Given the description of an element on the screen output the (x, y) to click on. 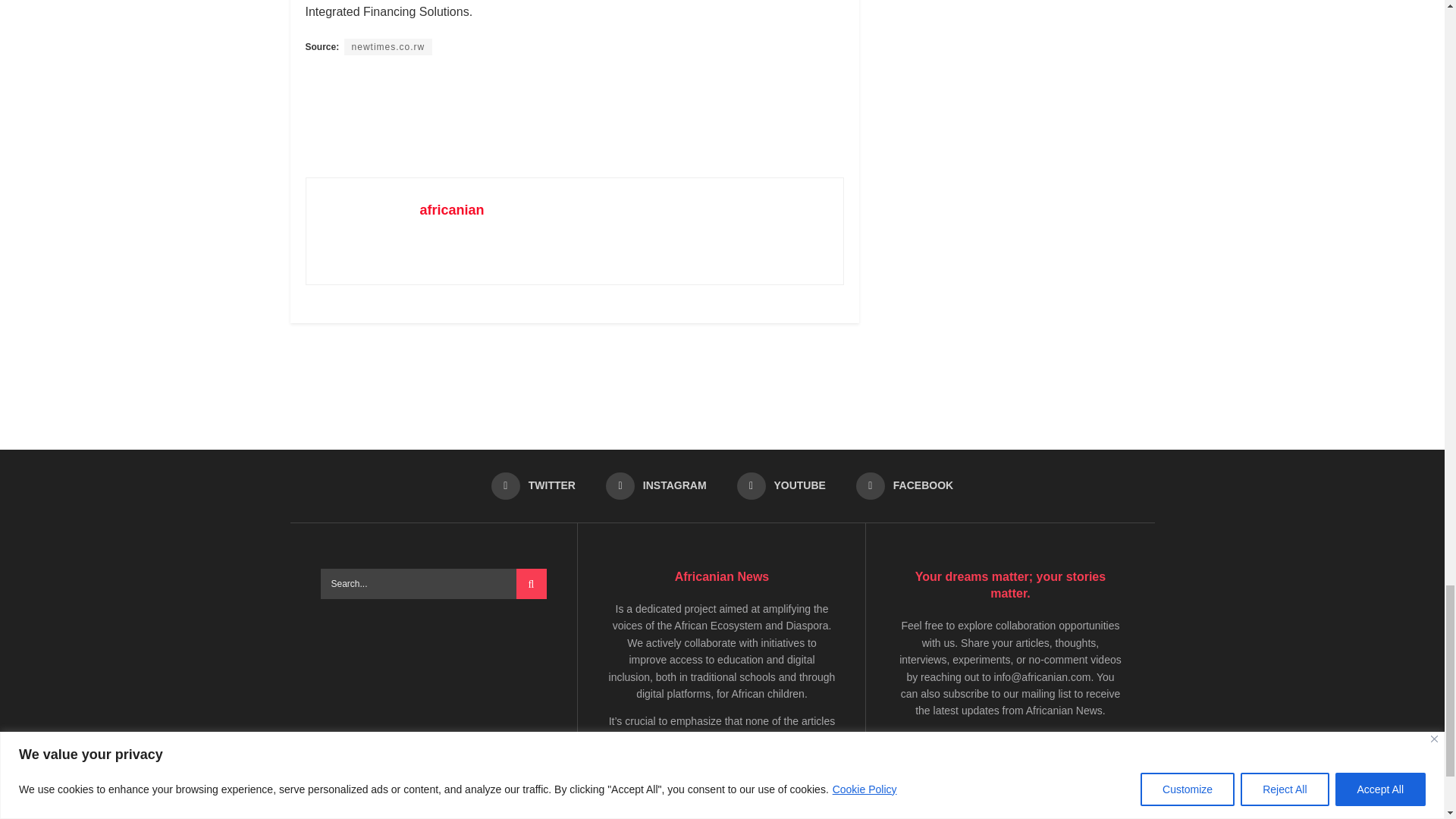
Advertisement (580, 115)
Subscribe (937, 794)
Advertisement (722, 379)
